Given the description of an element on the screen output the (x, y) to click on. 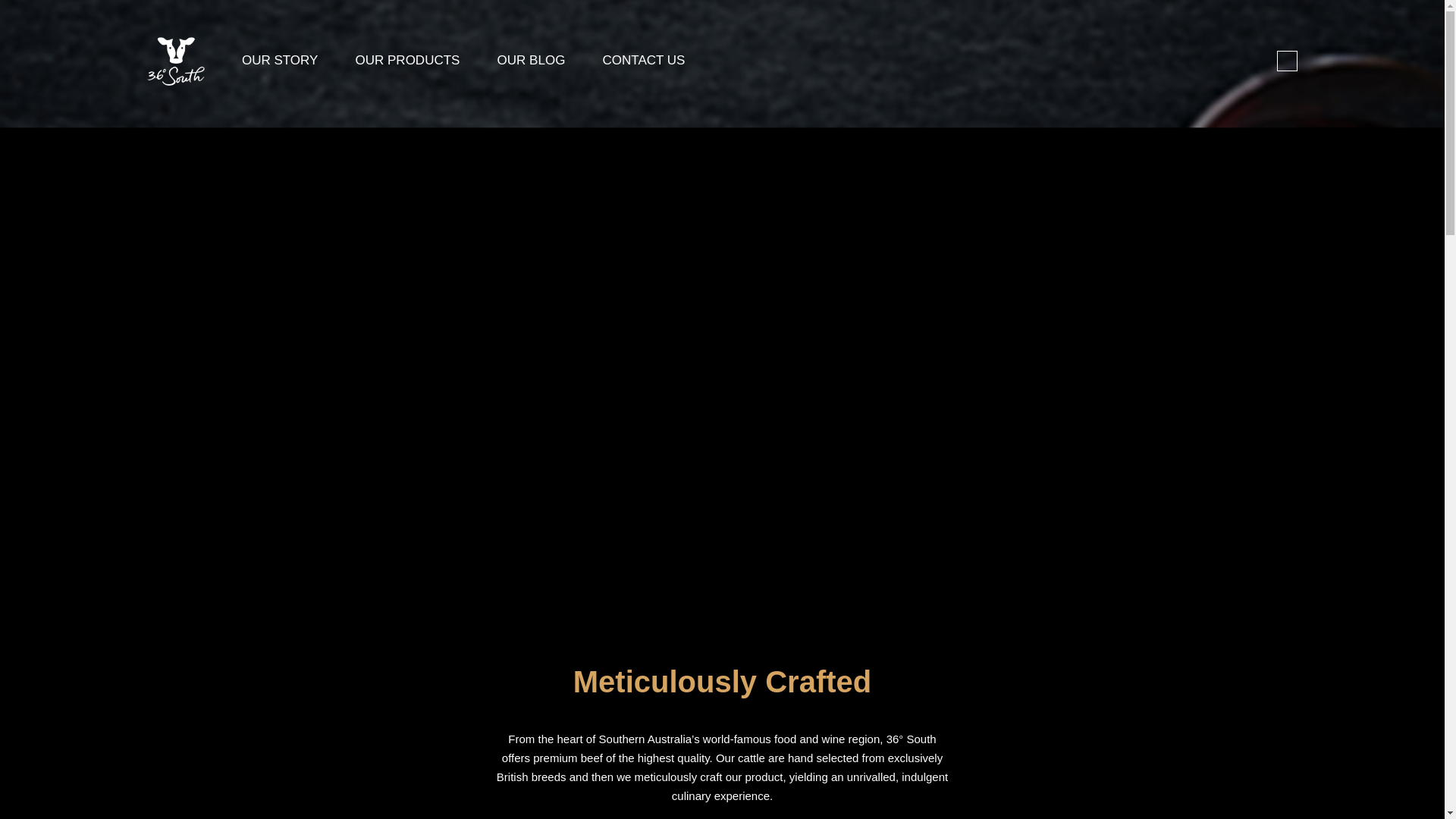
CONTACT US (643, 60)
OUR BLOG (531, 60)
OUR PRODUCTS (407, 60)
OUR STORY (279, 60)
